Given the description of an element on the screen output the (x, y) to click on. 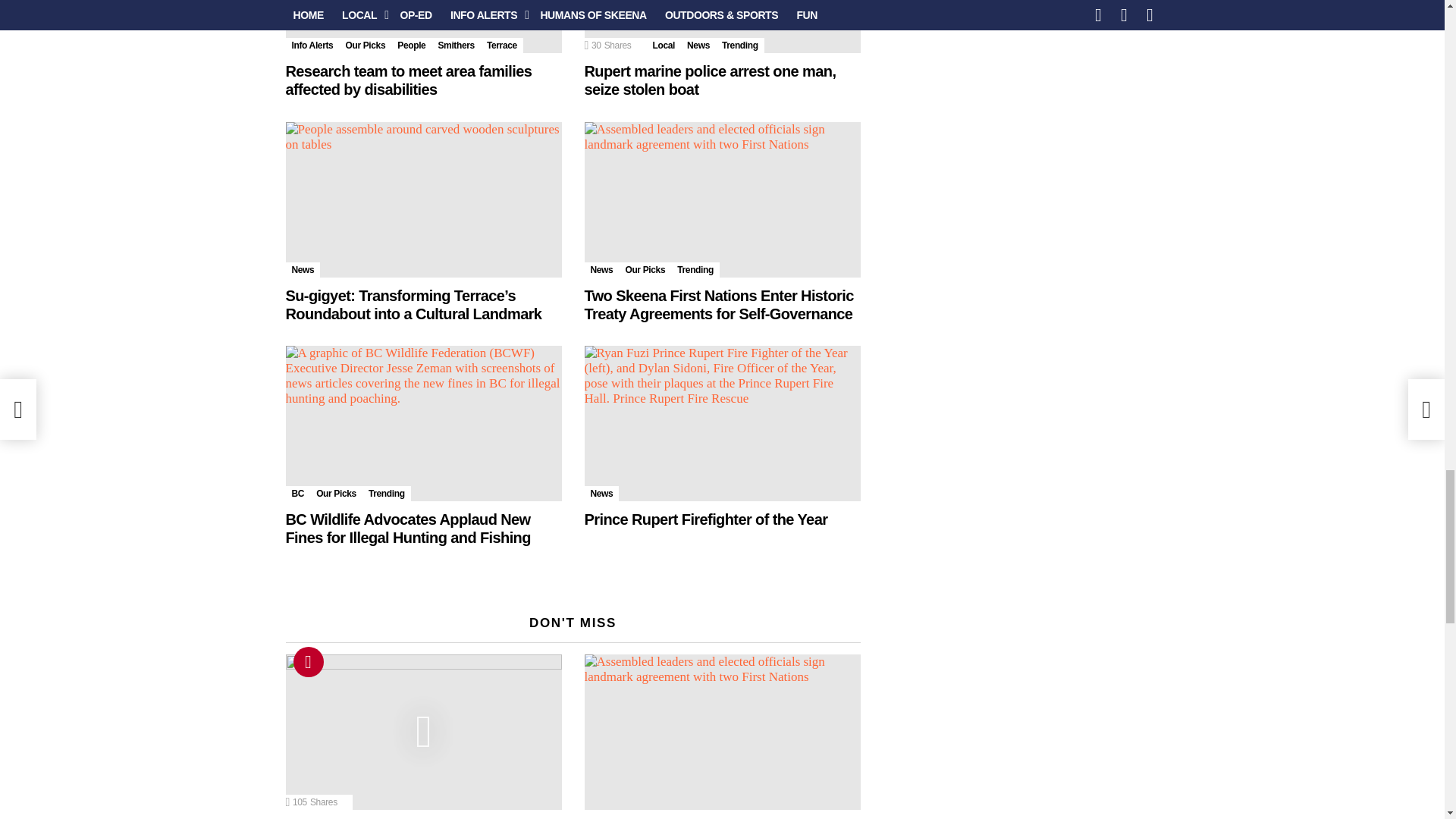
Research team to meet area families affected by disabilities (422, 26)
Rupert marine police arrest one man, seize stolen boat (721, 26)
